Given the description of an element on the screen output the (x, y) to click on. 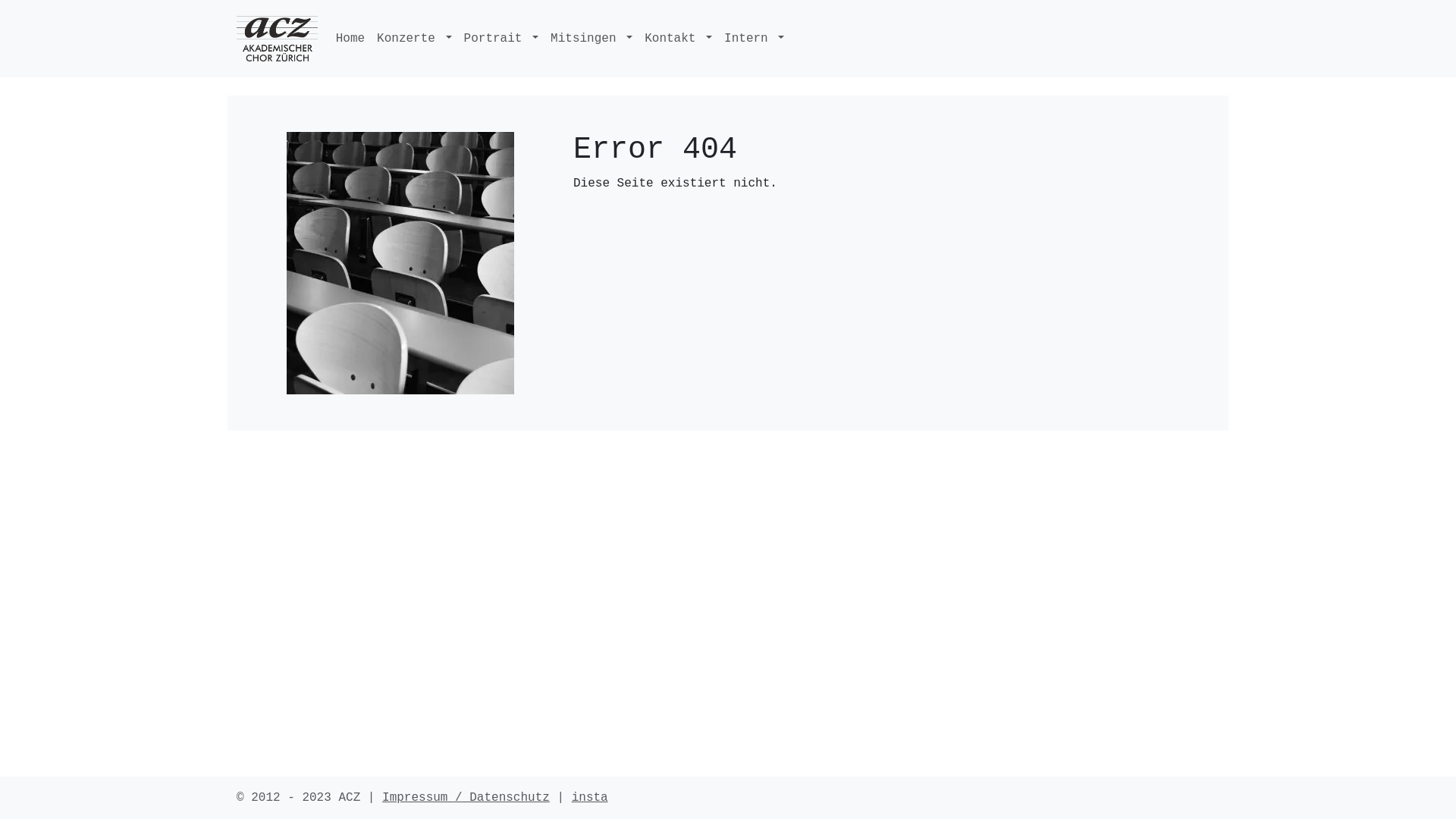
insta Element type: text (589, 797)
Home Element type: text (349, 38)
Kontakt Element type: text (678, 38)
Impressum / Datenschutz Element type: text (465, 797)
Portrait Element type: text (501, 38)
Konzerte Element type: text (414, 38)
Mitsingen Element type: text (591, 38)
Intern Element type: text (754, 38)
